Given the description of an element on the screen output the (x, y) to click on. 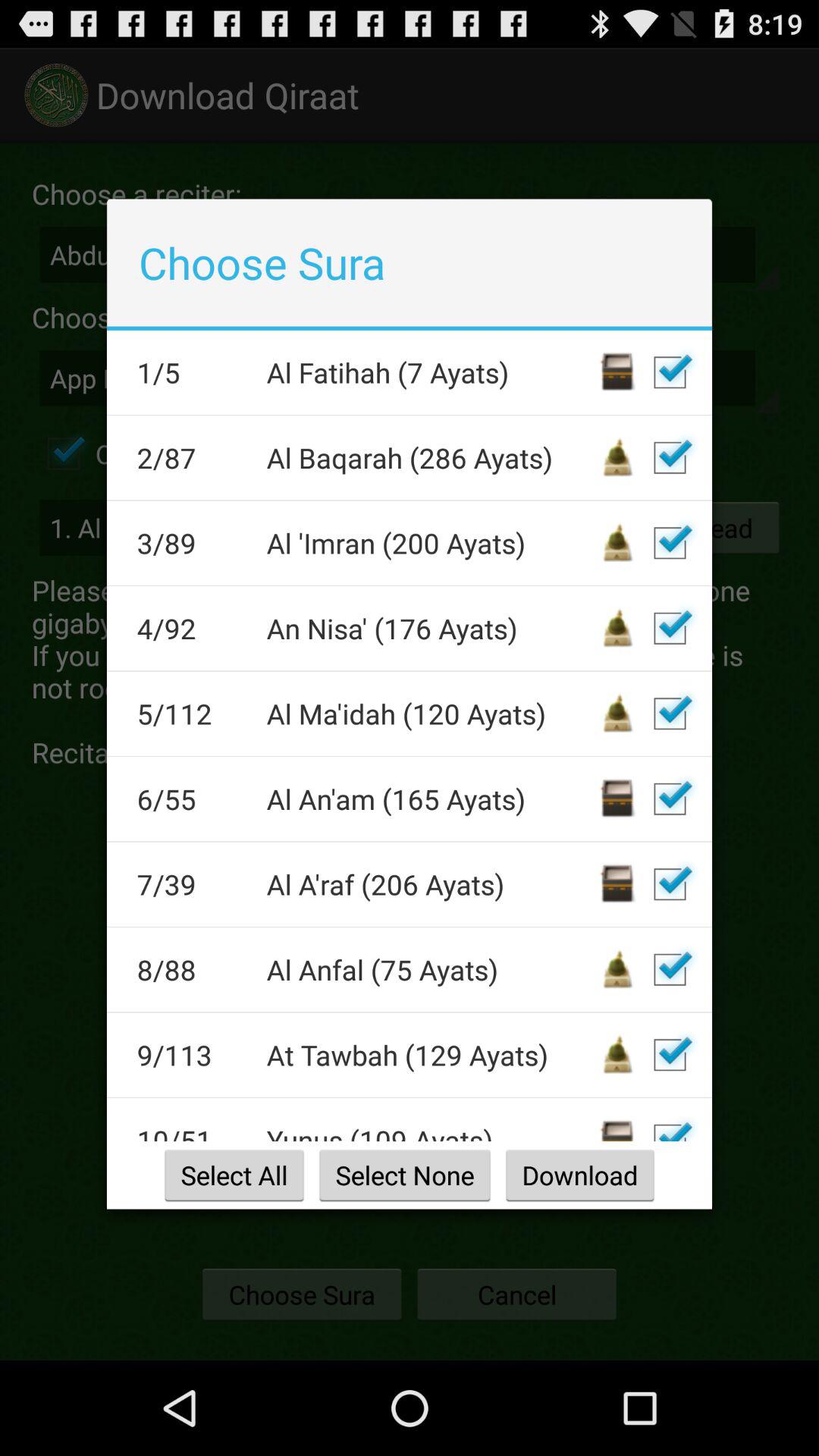
toggle sura inclusion (669, 372)
